Given the description of an element on the screen output the (x, y) to click on. 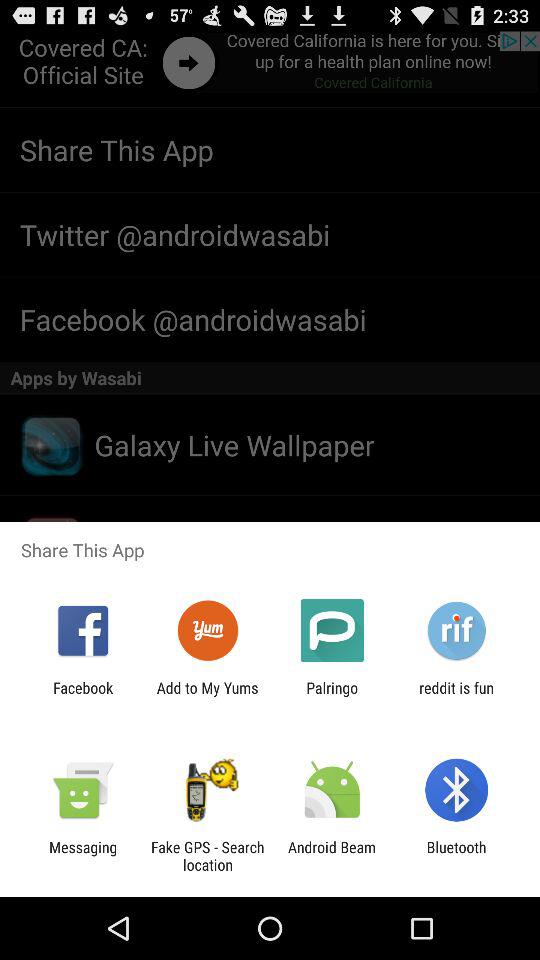
open item next to bluetooth icon (332, 856)
